Given the description of an element on the screen output the (x, y) to click on. 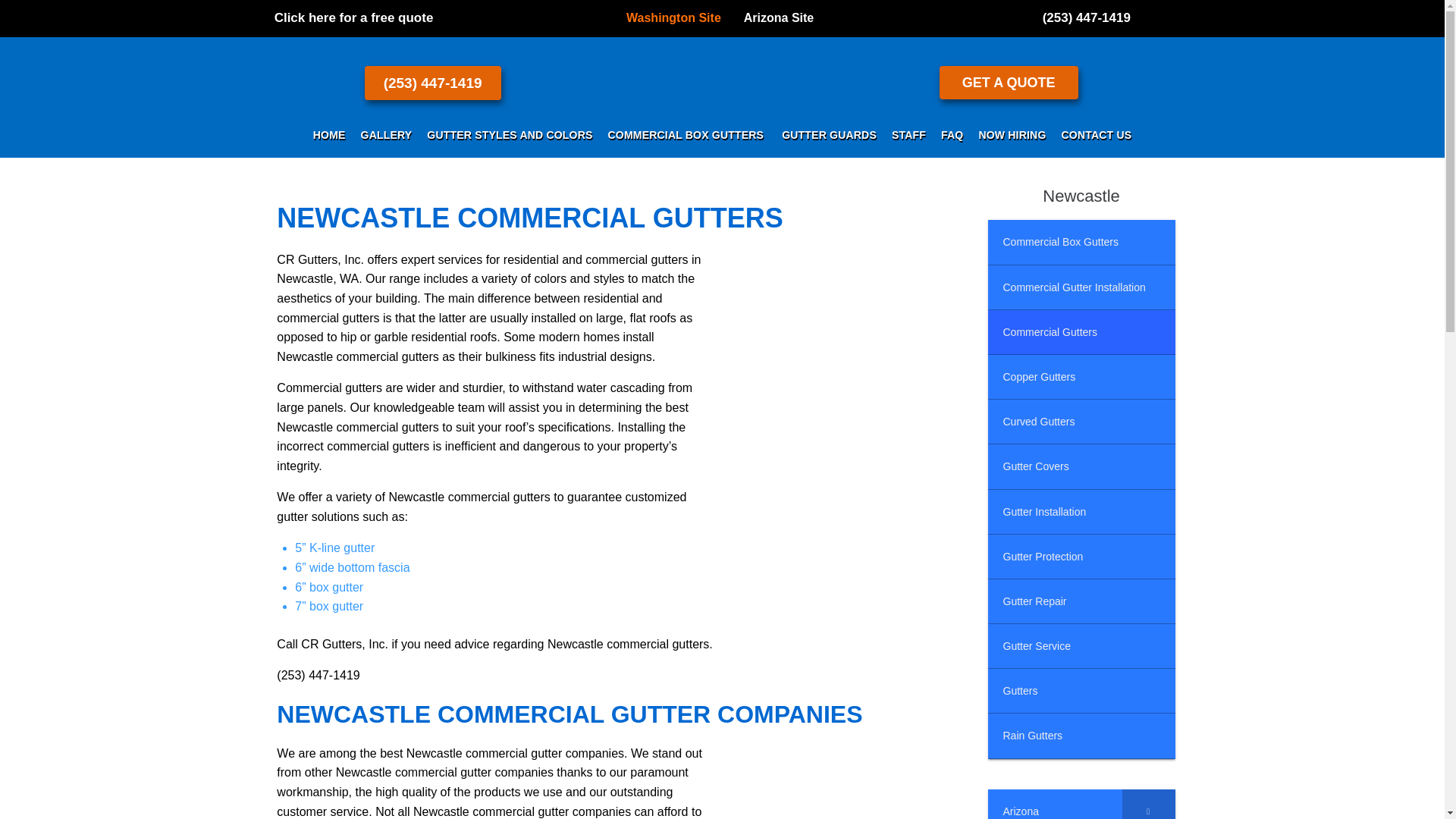
FAQ (952, 134)
NOW HIRING (1011, 134)
Gutter Installation (1080, 511)
Click here for a free quote (354, 18)
CONTACT US (1097, 134)
GALLERY (386, 134)
Copper Gutters (1080, 376)
Gutter Covers (1080, 466)
GET A QUOTE (1008, 82)
Commercial Box Gutters (1080, 242)
